Given the description of an element on the screen output the (x, y) to click on. 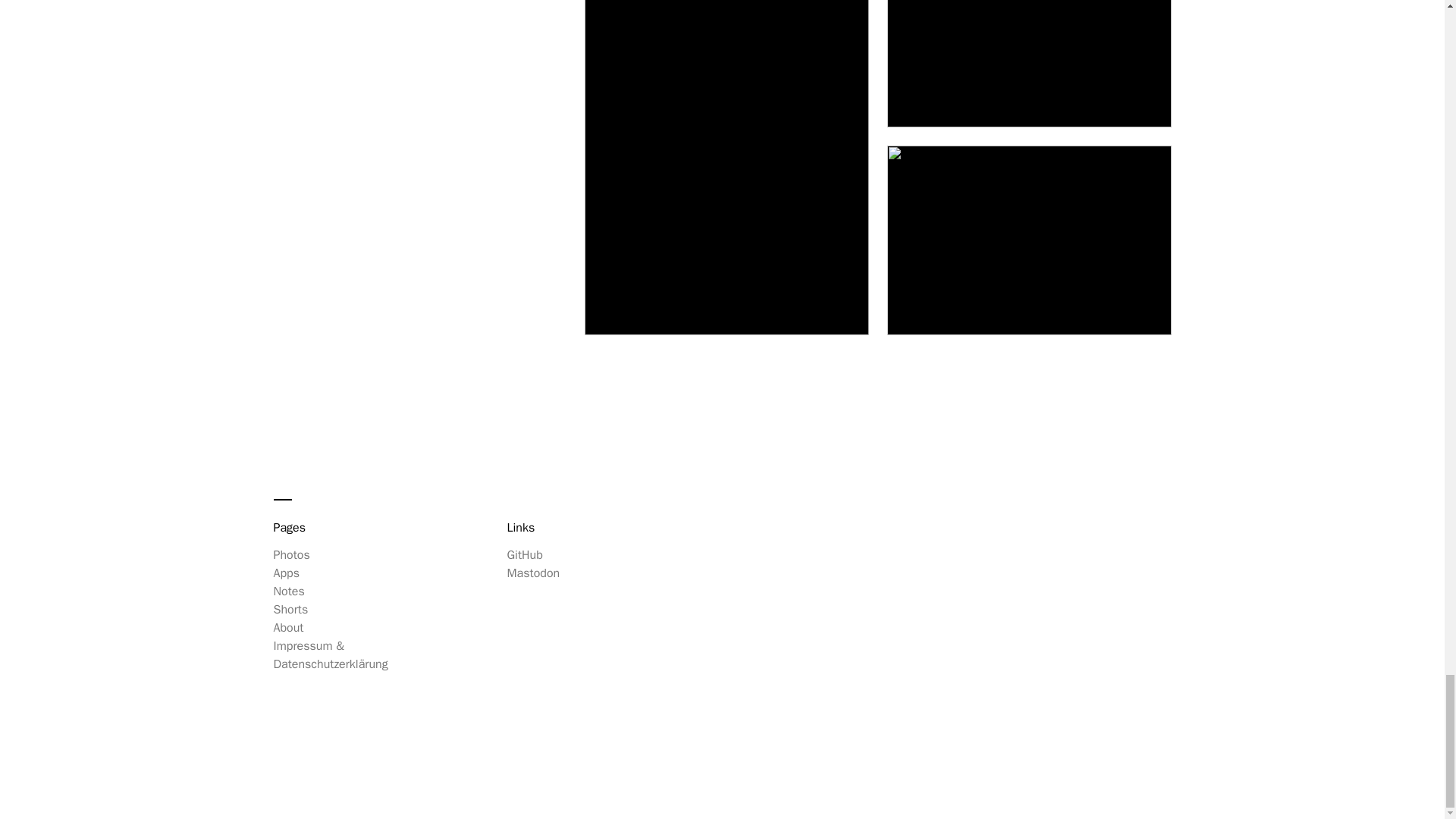
Notes (288, 590)
Links (566, 527)
About (287, 627)
Apps (286, 572)
Photos (290, 554)
Shorts (290, 609)
